Given the description of an element on the screen output the (x, y) to click on. 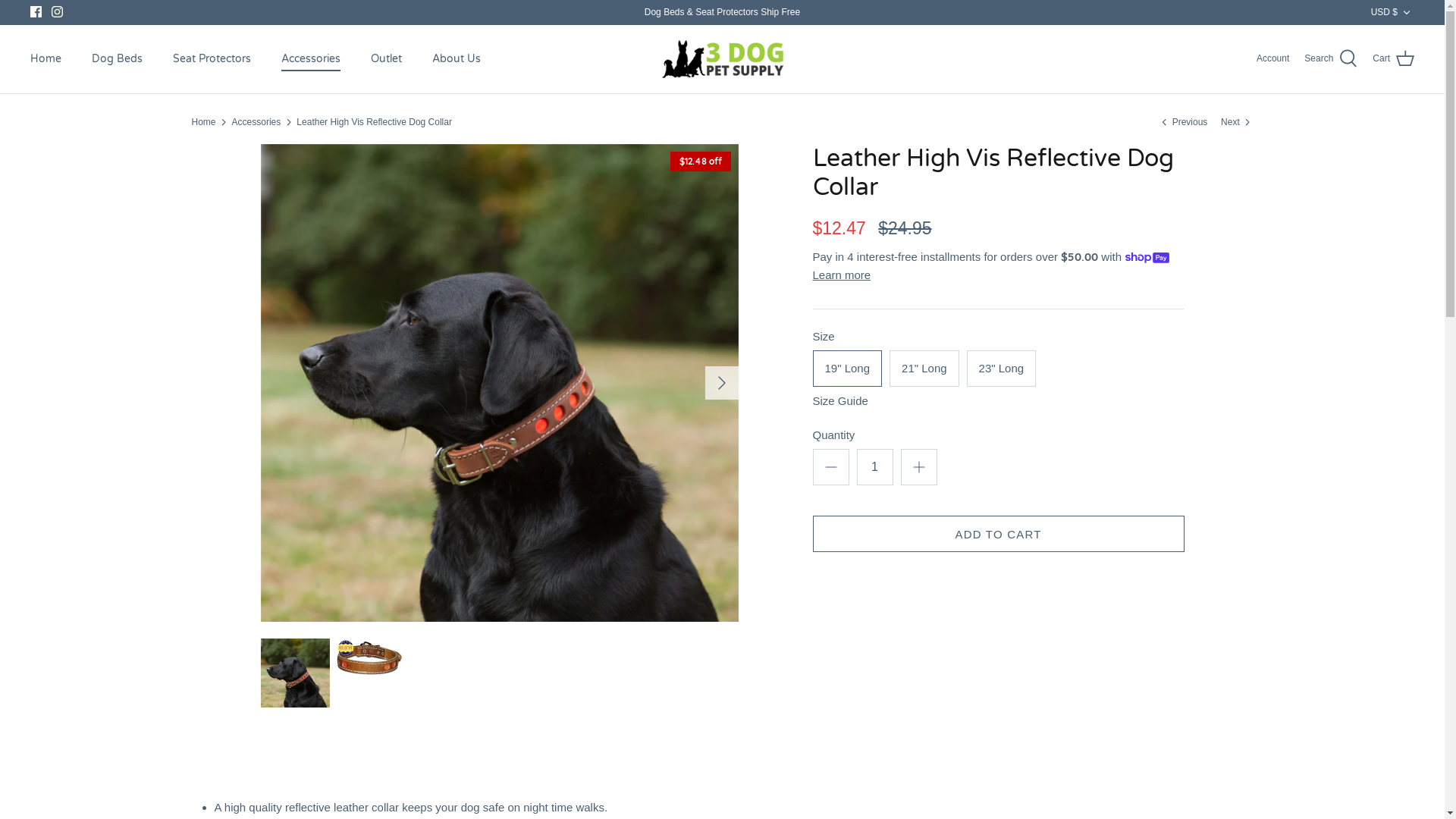
Accessories Element type: text (256, 121)
Plus Element type: text (918, 466)
Next Element type: text (1236, 121)
Facebook Element type: text (35, 11)
Accessories Element type: text (310, 58)
Home Element type: text (45, 58)
Minus Element type: text (830, 466)
Previous Element type: text (1184, 121)
21" Long Element type: text (924, 368)
Instagram Element type: text (56, 11)
Seat Protectors Element type: text (211, 58)
Dog Beds Element type: text (117, 58)
Account Element type: text (1272, 58)
3 Dog Pet Supply Element type: hover (721, 59)
Leather High Vis Reflective Dog Collar Element type: text (373, 121)
19" Long Element type: text (847, 368)
Outlet Element type: text (386, 58)
About Us Element type: text (456, 58)
Size Guide Element type: text (998, 400)
Home Element type: text (203, 121)
RIGHT Element type: text (721, 382)
Search Element type: text (1330, 59)
23" Long Element type: text (1001, 368)
USD $
Down Element type: text (1392, 12)
Cart Element type: text (1393, 59)
ADD TO CART Element type: text (998, 533)
